Given the description of an element on the screen output the (x, y) to click on. 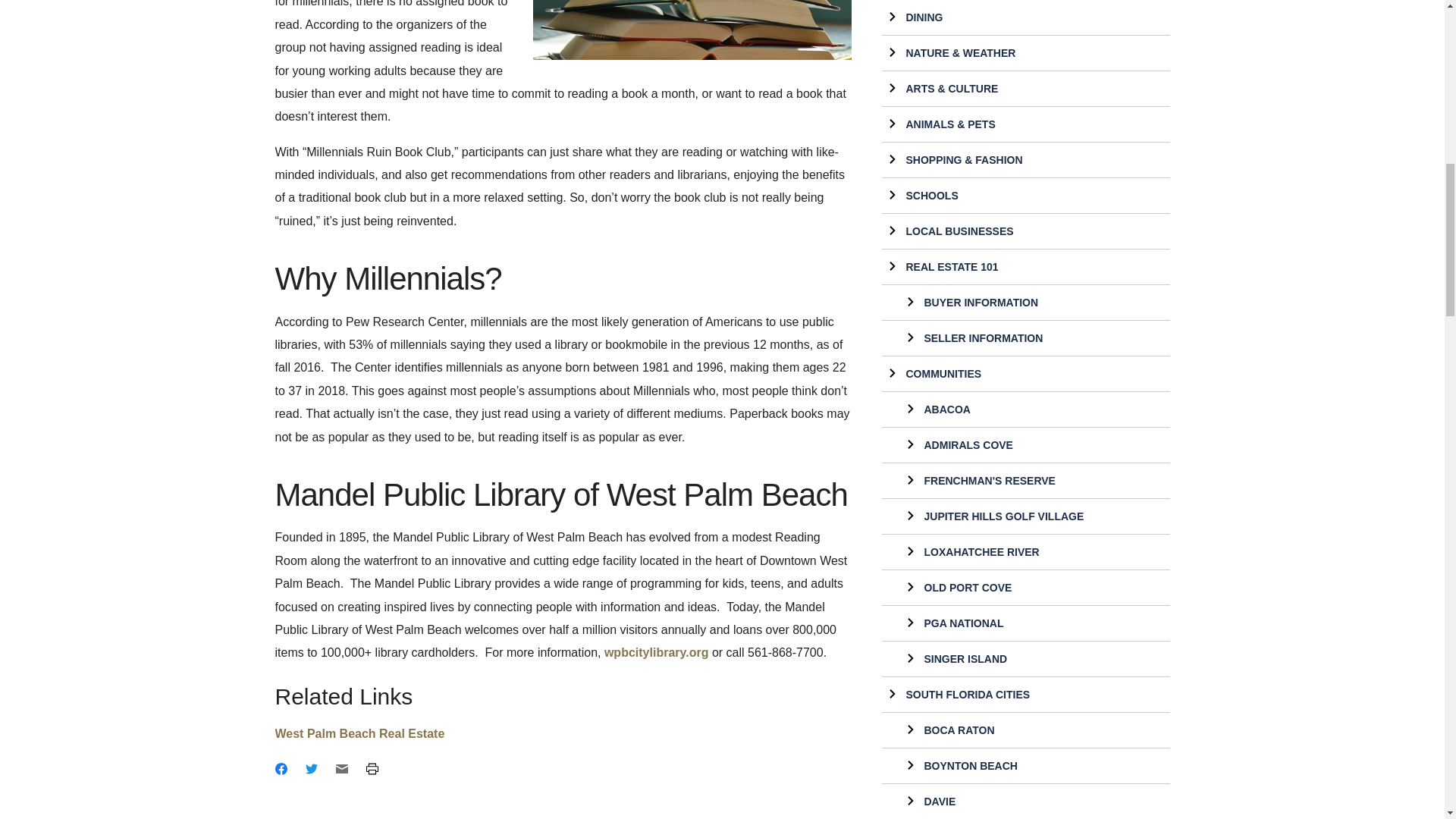
West Palm Beach Real Estate (359, 733)
Opens new window with print ready page (371, 767)
Send a link to post via Email (340, 767)
Tweet this post on Twitter (310, 767)
Share this post on Facebook (280, 767)
